Given the description of an element on the screen output the (x, y) to click on. 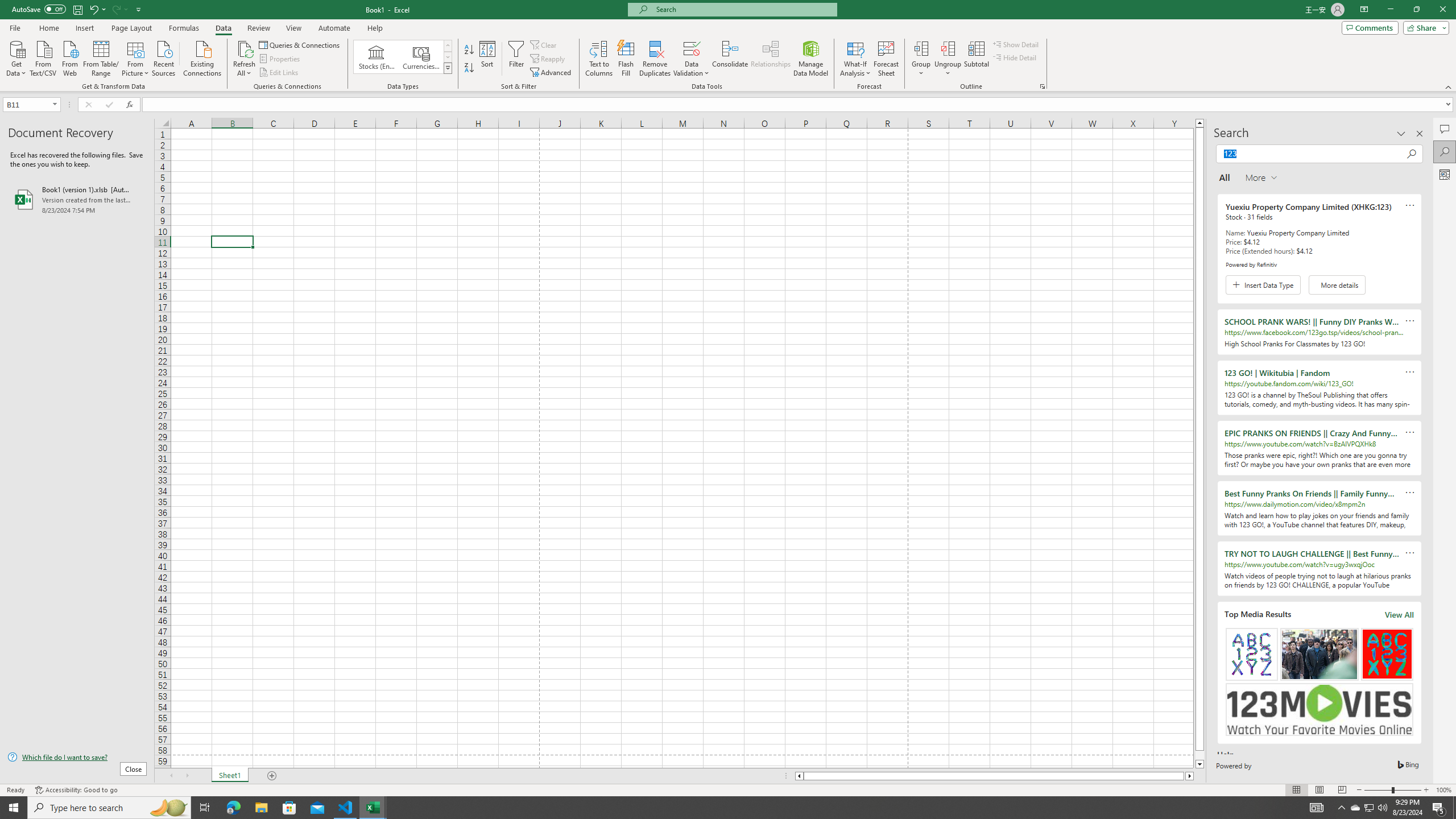
Minimize (1390, 9)
Sort Z to A (469, 67)
Group and Outline Settings (1042, 85)
From Picture (135, 57)
Scroll Left (171, 775)
Home (48, 28)
Filter (515, 58)
Comments (1369, 27)
Page down (1199, 755)
Zoom (1392, 790)
View (293, 28)
Review (258, 28)
Formula Bar (799, 104)
